Given the description of an element on the screen output the (x, y) to click on. 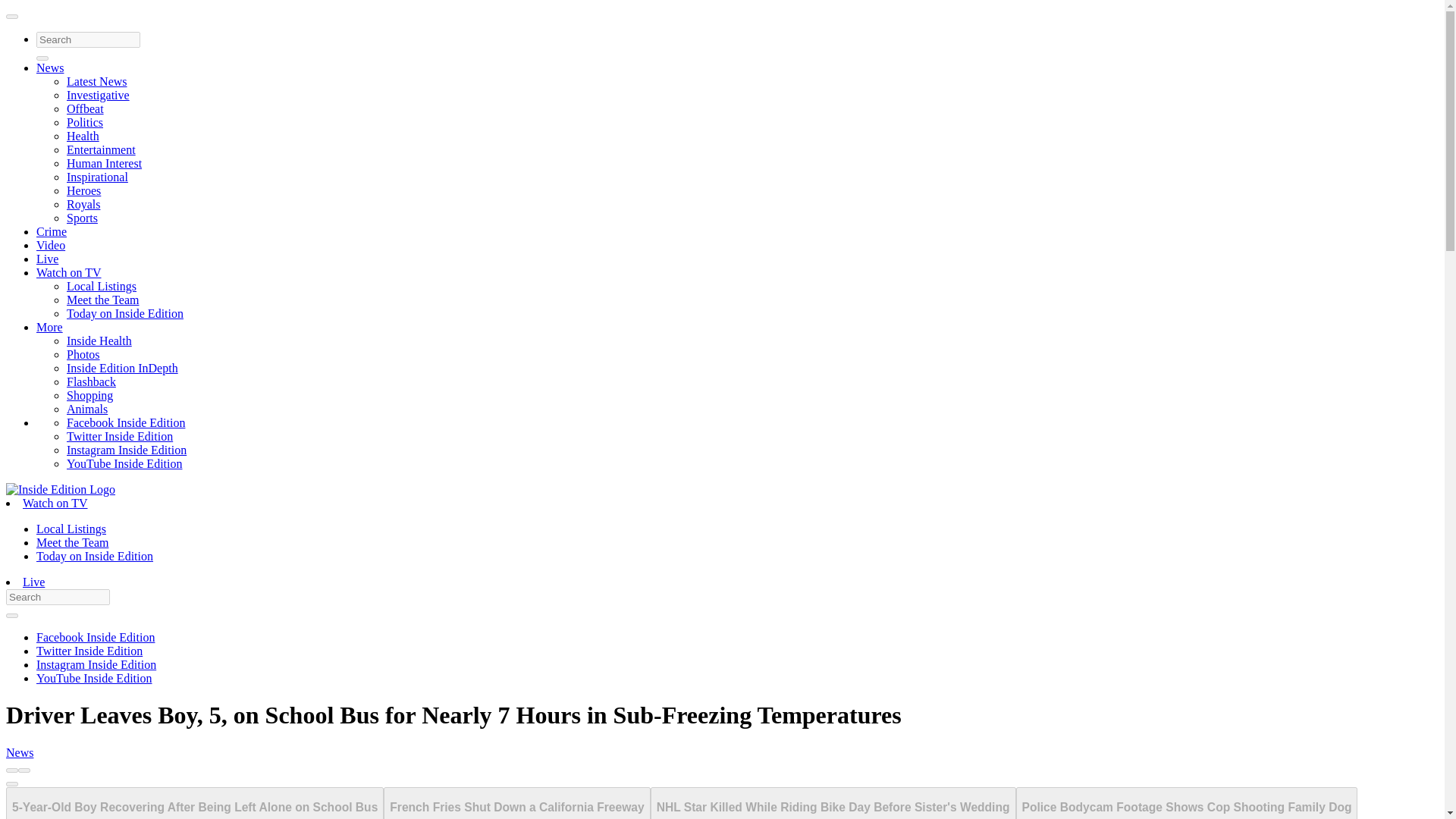
Facebook Inside Edition (95, 636)
Today on Inside Edition (124, 313)
Twitter Inside Edition (119, 436)
Health (82, 135)
Meet the Team (71, 542)
Enter the terms you wish to search for. (57, 596)
Sports (81, 217)
Inspirational (97, 176)
Watch on TV (68, 272)
Animals (86, 408)
